Given the description of an element on the screen output the (x, y) to click on. 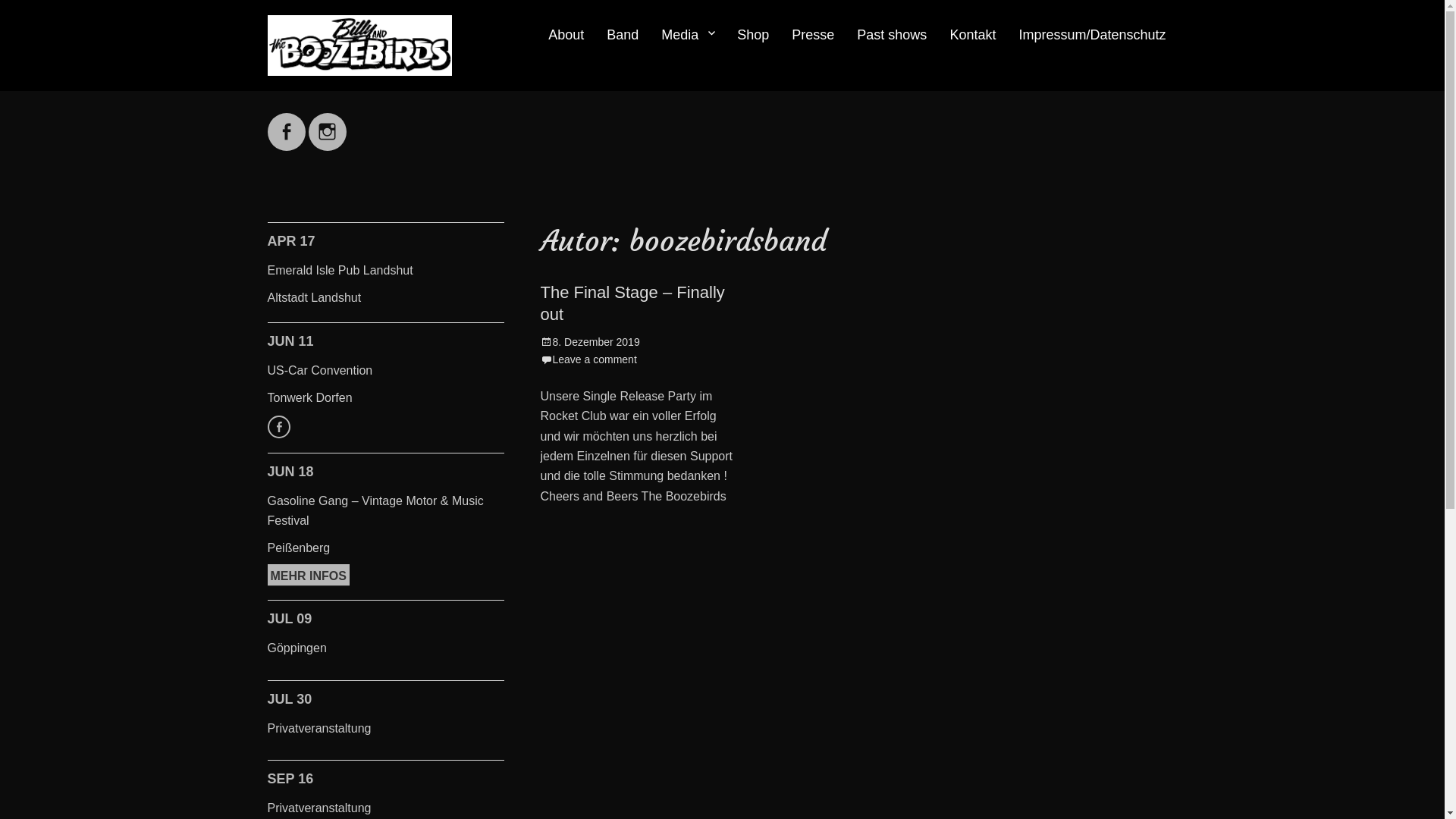
About Element type: text (565, 35)
Leave a comment Element type: text (587, 359)
Past shows Element type: text (891, 35)
Kontakt Element type: text (972, 35)
Band Element type: text (622, 35)
Shop Element type: text (752, 35)
8. Dezember 2019 Element type: text (589, 341)
MEHR INFOS Element type: text (277, 426)
MEHR INFOS Element type: text (307, 574)
Presse Element type: text (812, 35)
Facebook Element type: text (285, 122)
Media Element type: text (687, 35)
Impressum/Datenschutz Element type: text (1091, 35)
Instagram Element type: text (327, 122)
